Given the description of an element on the screen output the (x, y) to click on. 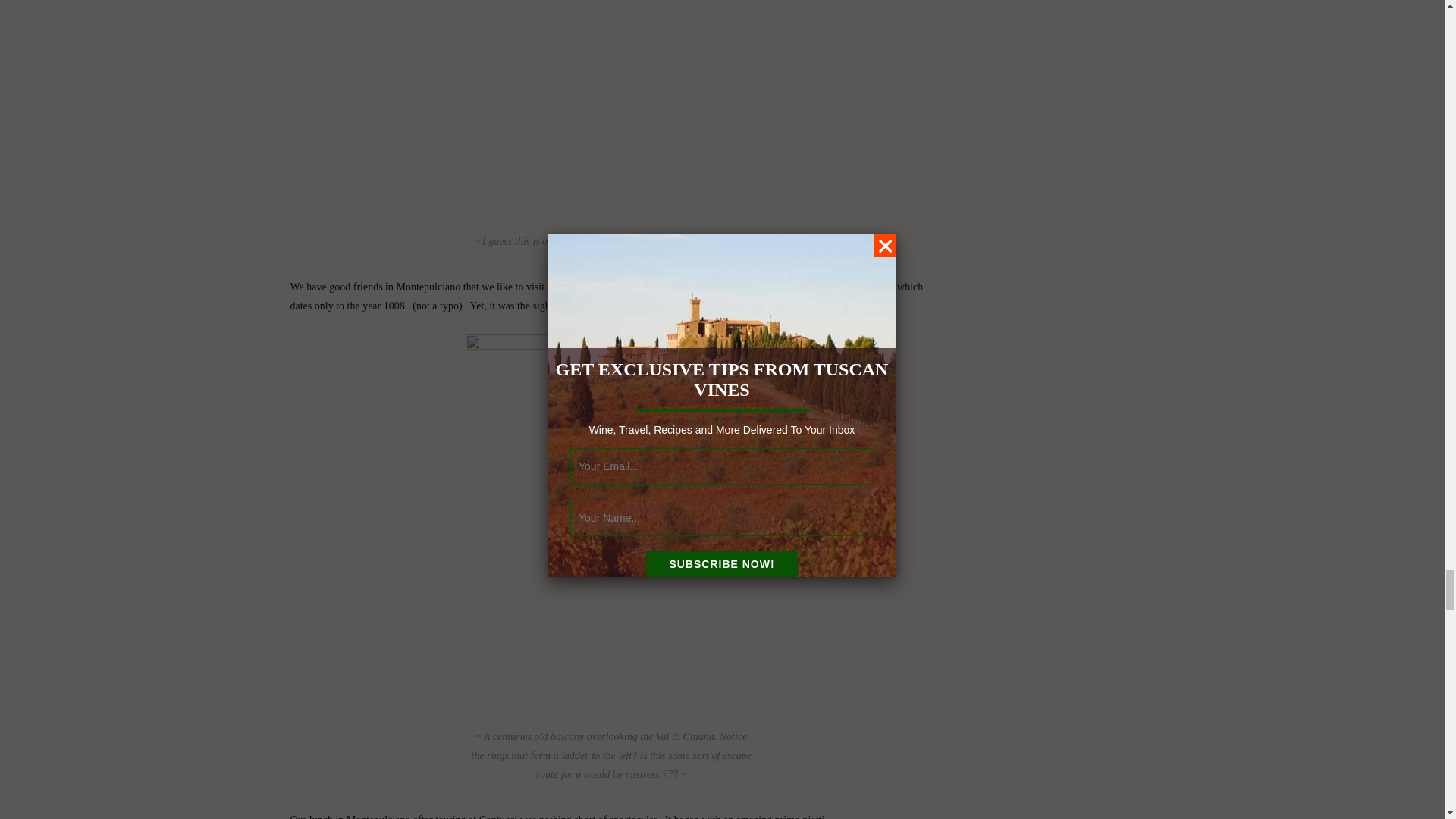
his family winery (857, 286)
